Given the description of an element on the screen output the (x, y) to click on. 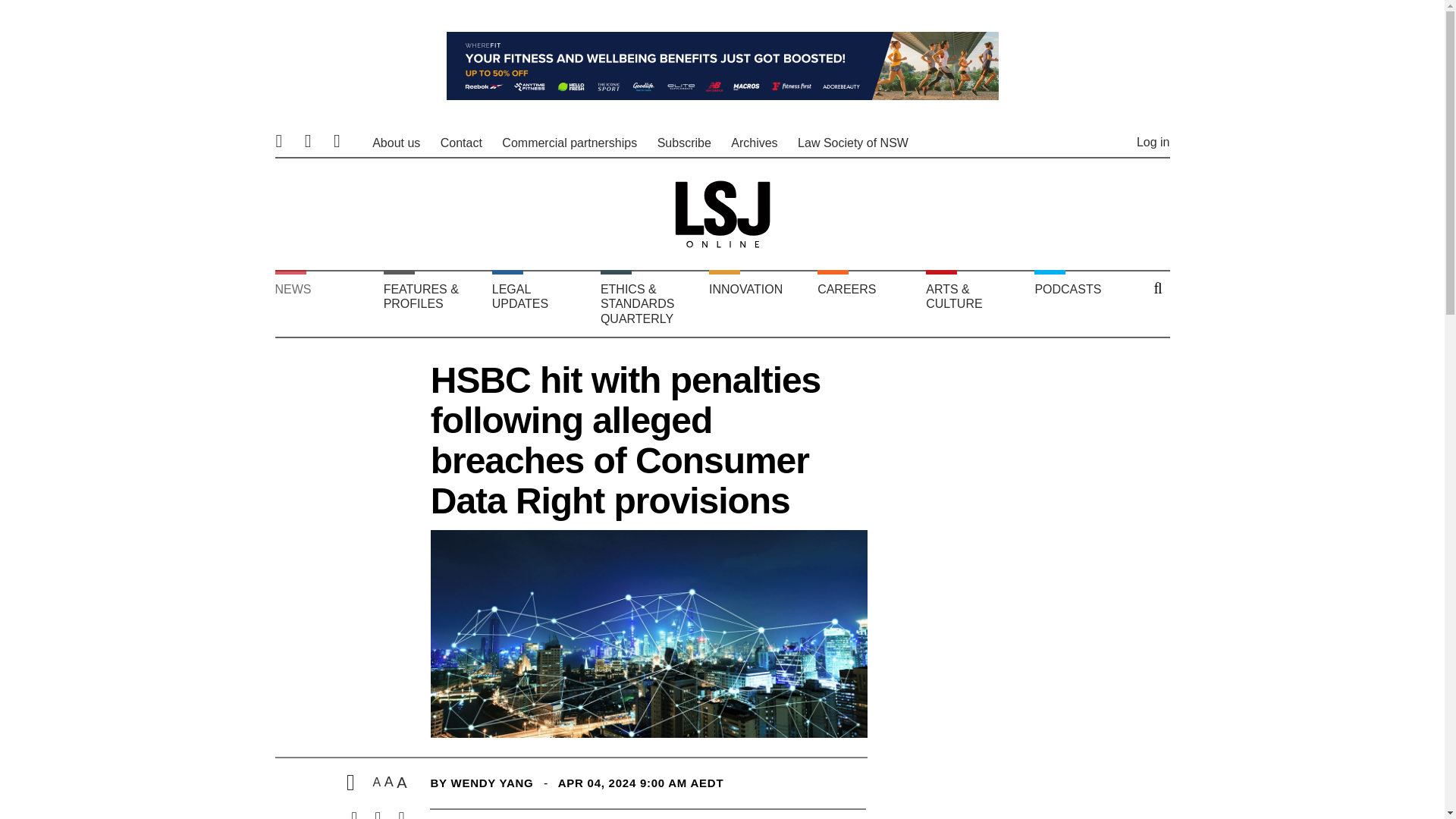
Archives (753, 142)
Log in (1153, 141)
Contact (461, 142)
INNOVATION (759, 303)
NEWS (325, 303)
Commercial partnerships (569, 142)
CAREERS (867, 303)
LEGAL UPDATES (542, 303)
Posts by Wendy Yang (490, 782)
Law Society of NSW (852, 142)
PODCASTS (1084, 303)
Subscribe (684, 142)
About us (396, 142)
